Given the description of an element on the screen output the (x, y) to click on. 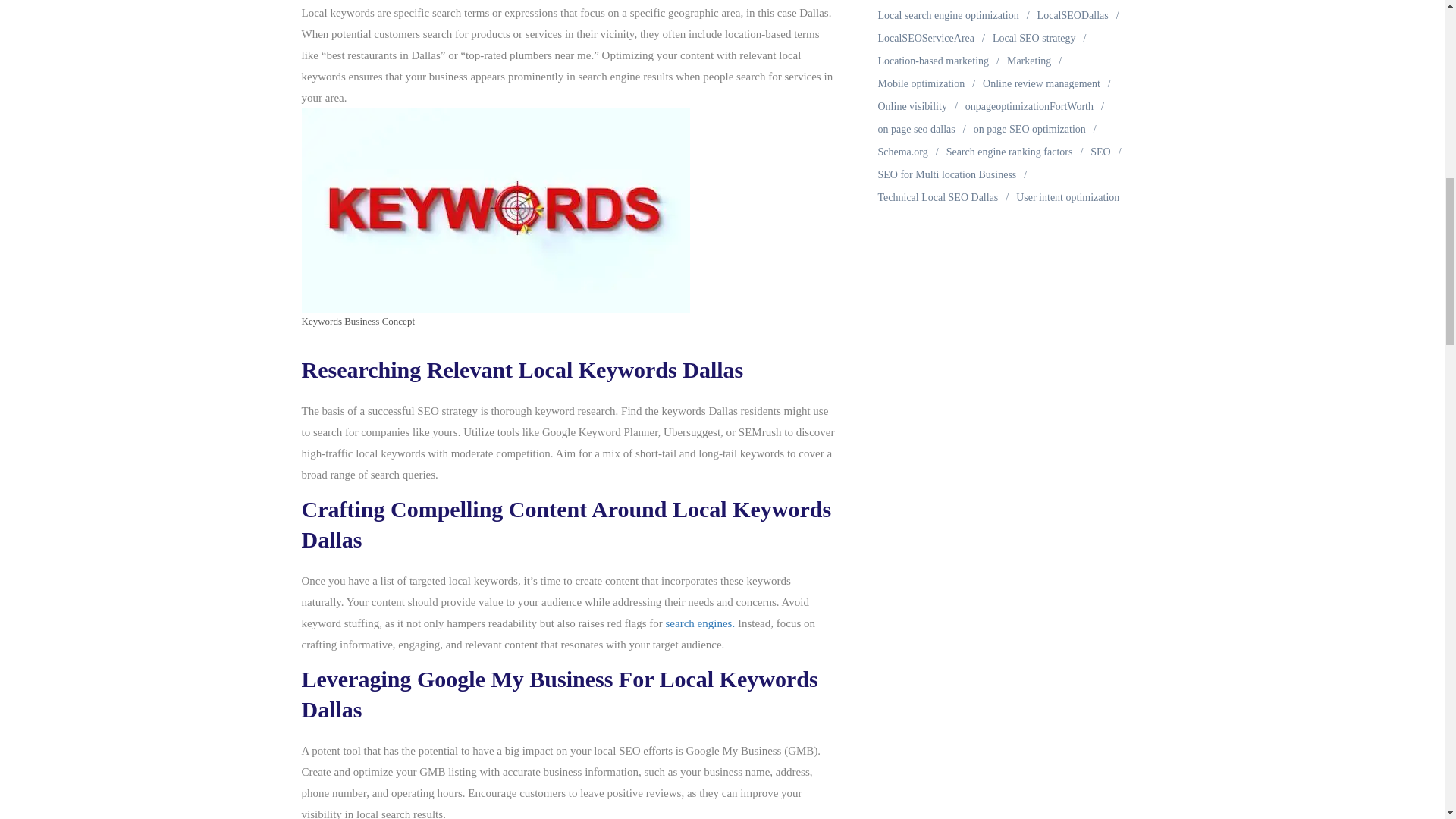
search engines. (701, 623)
